Given the description of an element on the screen output the (x, y) to click on. 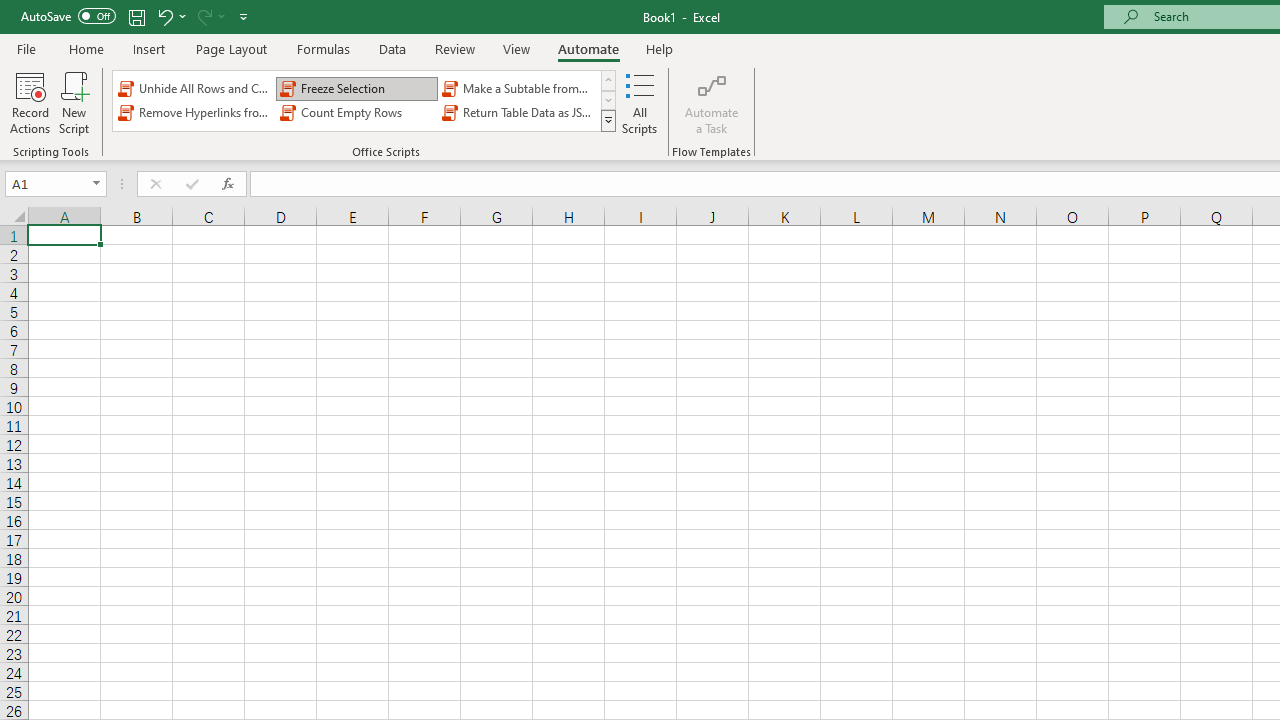
Freeze Selection (356, 88)
Make a Subtable from a Selection (518, 88)
Automate (588, 48)
Home (86, 48)
AutoSave (68, 16)
New Script (73, 102)
Formulas (323, 48)
Office Scripts (608, 120)
AutomationID: OfficeScriptsGallery (365, 100)
Automate a Task (712, 102)
Return Table Data as JSON (518, 112)
